Given the description of an element on the screen output the (x, y) to click on. 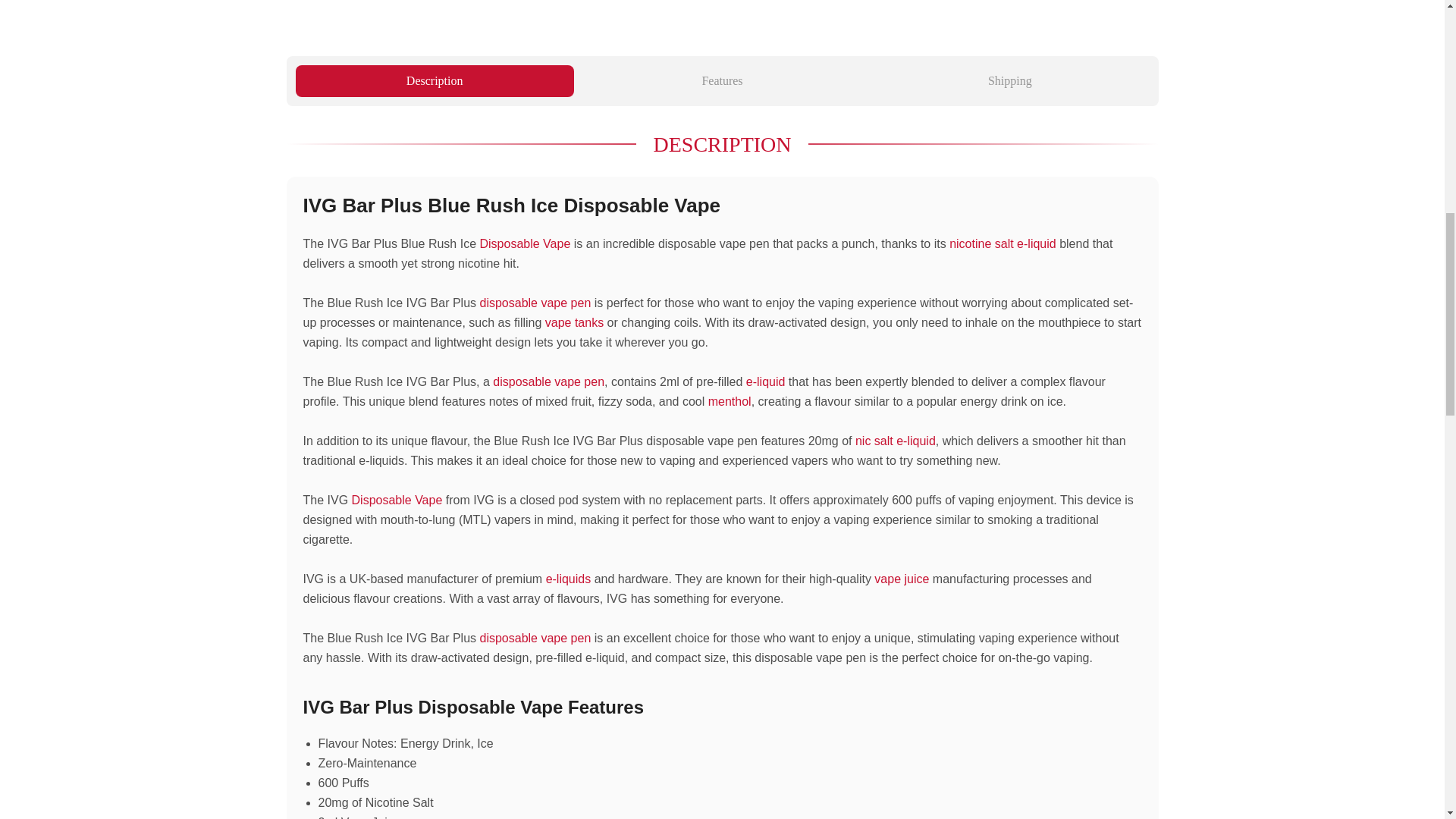
E-Liquid (568, 578)
Menthol E-Liquid (729, 400)
Vape Juice (901, 578)
Disposable Vape (397, 499)
Disposable Vape Pen (535, 302)
E-liquid (765, 381)
Nic Salt E-Liquid (896, 440)
Nicotine Salt E-Liquid (1003, 243)
Disposable Vape (524, 243)
Disposable Vape Pen (535, 637)
